Given the description of an element on the screen output the (x, y) to click on. 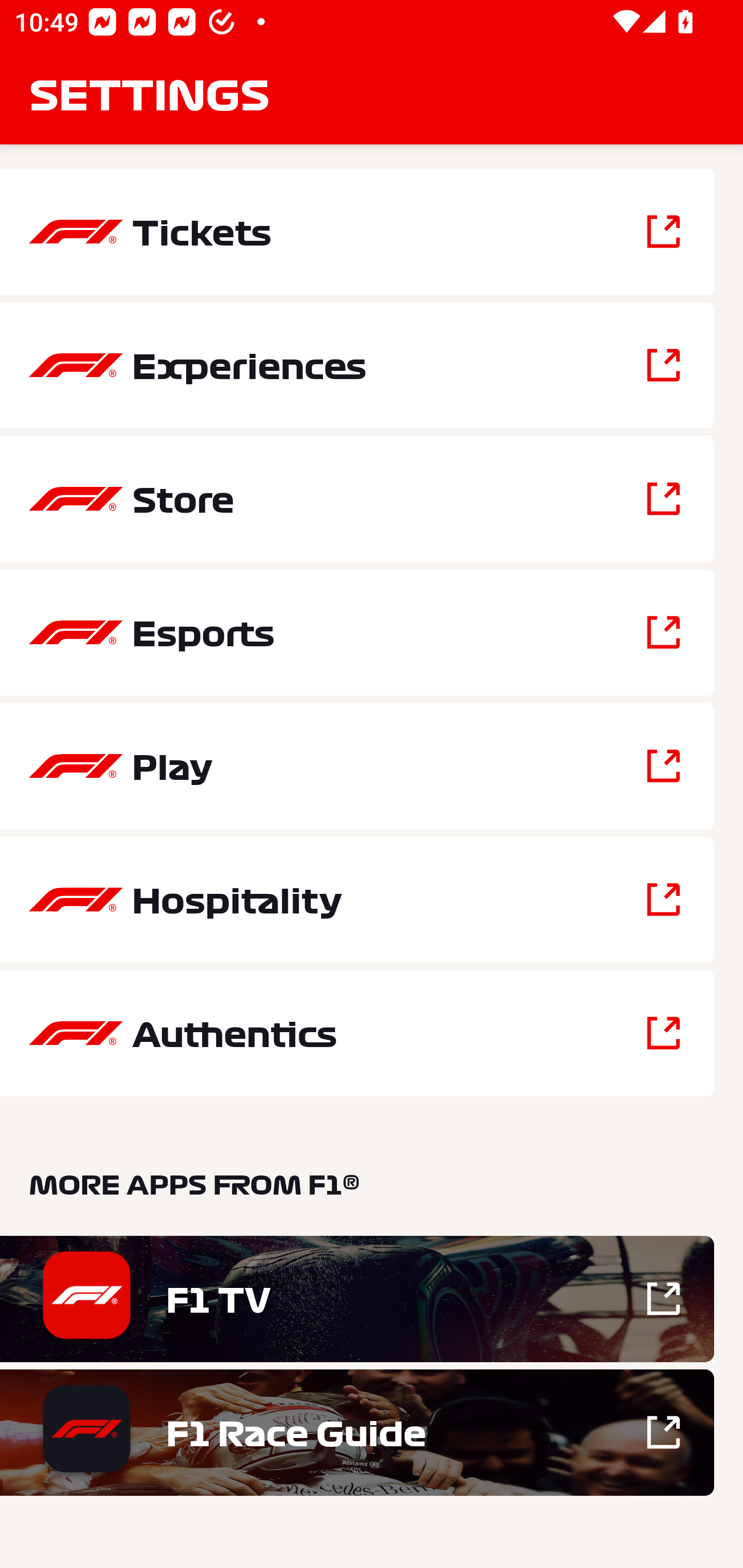
Tickets (357, 231)
Experiences (357, 365)
Store (357, 498)
Esports (357, 632)
Play (357, 765)
Hospitality (357, 899)
Authentics (357, 1033)
F1 TV (357, 1298)
F1 Race Guide (357, 1431)
